Given the description of an element on the screen output the (x, y) to click on. 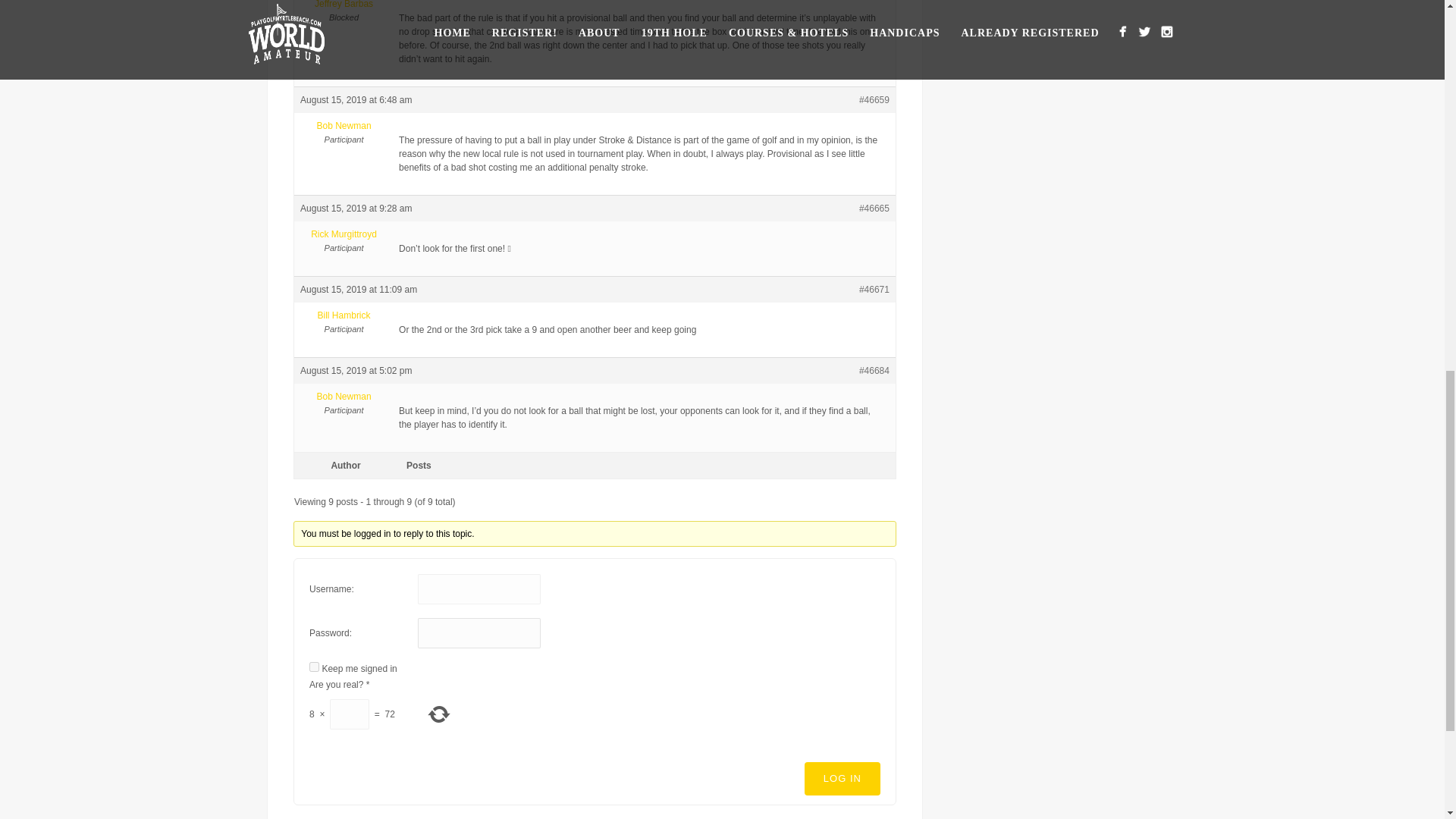
View Bob Newman's profile (343, 125)
View Jeffrey Barbas's profile (343, 5)
Jeffrey Barbas (343, 5)
View Bill Hambrick's profile (343, 315)
forever (313, 666)
LOG IN (842, 778)
Rick Murgittroyd (343, 233)
Bill Hambrick (343, 315)
Bob Newman (343, 125)
View Bob Newman's profile (343, 396)
Bob Newman (343, 396)
View Rick Murgittroyd's profile (343, 233)
